Given the description of an element on the screen output the (x, y) to click on. 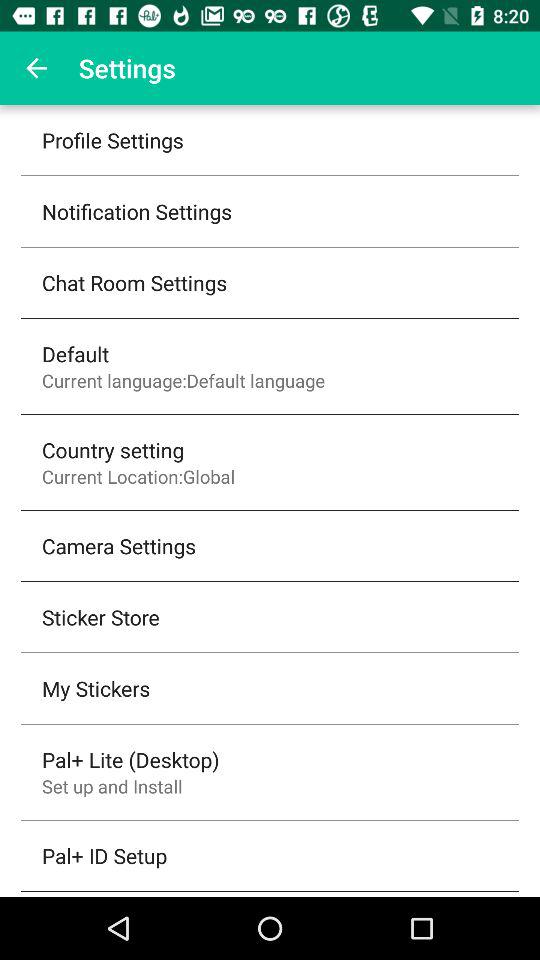
turn off the item below the my stickers item (130, 759)
